Given the description of an element on the screen output the (x, y) to click on. 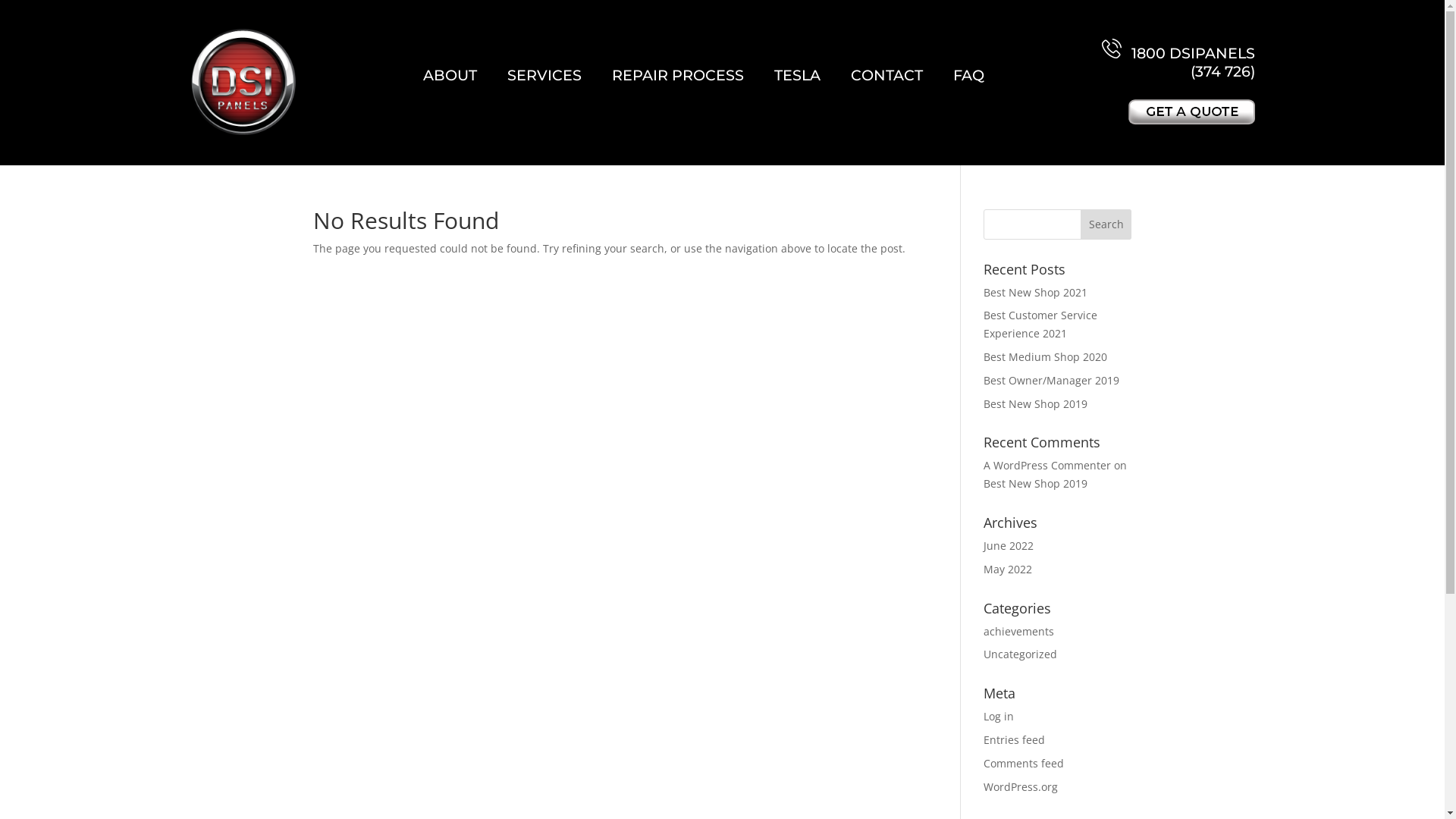
Best New Shop 2019 Element type: text (1035, 483)
REPAIR PROCESS Element type: text (677, 74)
June 2022 Element type: text (1008, 545)
Comments feed Element type: text (1023, 763)
Best Owner/Manager 2019 Element type: text (1051, 380)
Search Element type: text (1106, 224)
May 2022 Element type: text (1007, 568)
FAQ Element type: text (968, 74)
ABOUT Element type: text (449, 74)
Log in Element type: text (998, 716)
Best Customer Service Experience 2021 Element type: text (1040, 323)
WordPress.org Element type: text (1020, 786)
CONTACT Element type: text (886, 74)
Best New Shop 2019 Element type: text (1035, 403)
Uncategorized Element type: text (1020, 653)
achievements Element type: text (1018, 631)
TESLA Element type: text (797, 74)
Entries feed Element type: text (1013, 739)
Best Medium Shop 2020 Element type: text (1045, 356)
SERVICES Element type: text (544, 74)
Best New Shop 2021 Element type: text (1035, 292)
1800 DSIPANELS
(374 726) Element type: text (1178, 59)
A WordPress Commenter Element type: text (1046, 465)
